Given the description of an element on the screen output the (x, y) to click on. 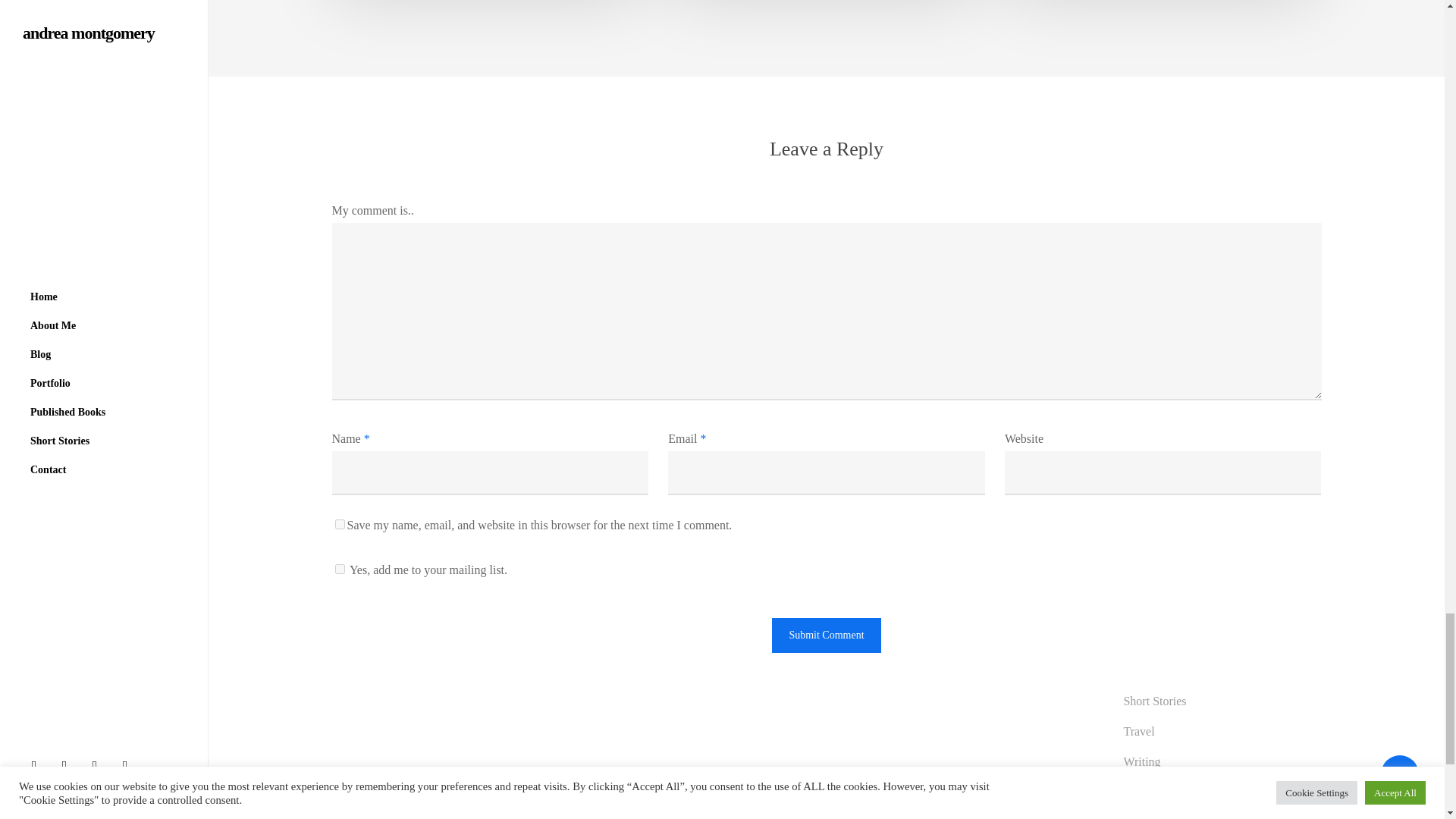
Submit Comment (825, 635)
1 (339, 569)
yes (339, 524)
